Given the description of an element on the screen output the (x, y) to click on. 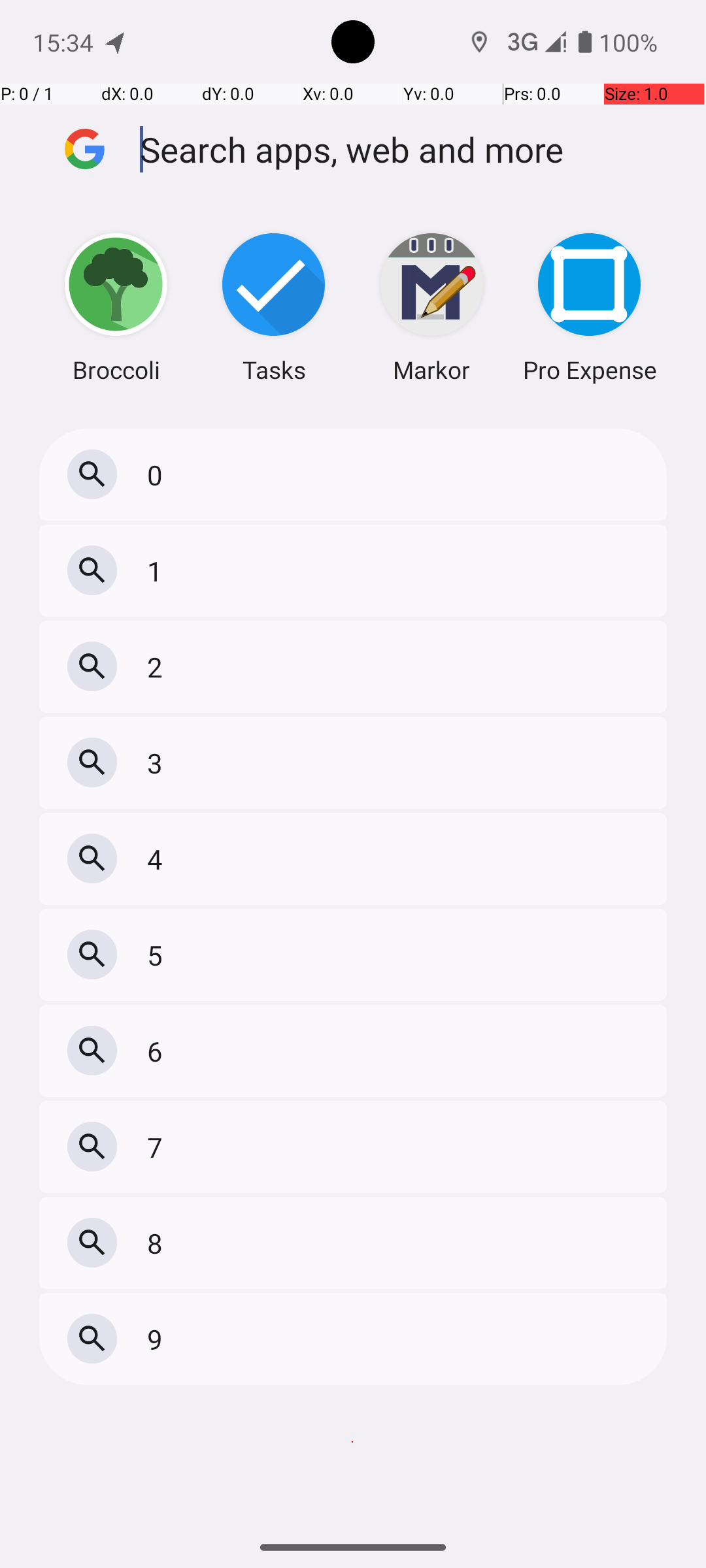
Google app Element type: android.widget.ImageView (84, 148)
Search apps, web and more Element type: android.widget.EditText (403, 148)
Broccoli Element type: android.widget.TextView (115, 306)
Tasks Element type: android.widget.TextView (273, 306)
Markor Element type: android.widget.TextView (431, 306)
Pro Expense Element type: android.widget.TextView (589, 306)
0 Element type: android.widget.TextView (158, 474)
1 Element type: android.widget.TextView (158, 570)
2 Element type: android.widget.TextView (158, 666)
3 Element type: android.widget.TextView (158, 762)
4 Element type: android.widget.TextView (158, 858)
5 Element type: android.widget.TextView (158, 954)
6 Element type: android.widget.TextView (158, 1050)
7 Element type: android.widget.TextView (158, 1146)
8 Element type: android.widget.TextView (158, 1242)
9 Element type: android.widget.TextView (158, 1338)
OpenTracks notification: Distance: 0.00 ft Element type: android.widget.ImageView (115, 41)
Location requests active Element type: android.widget.ImageView (479, 41)
